Given the description of an element on the screen output the (x, y) to click on. 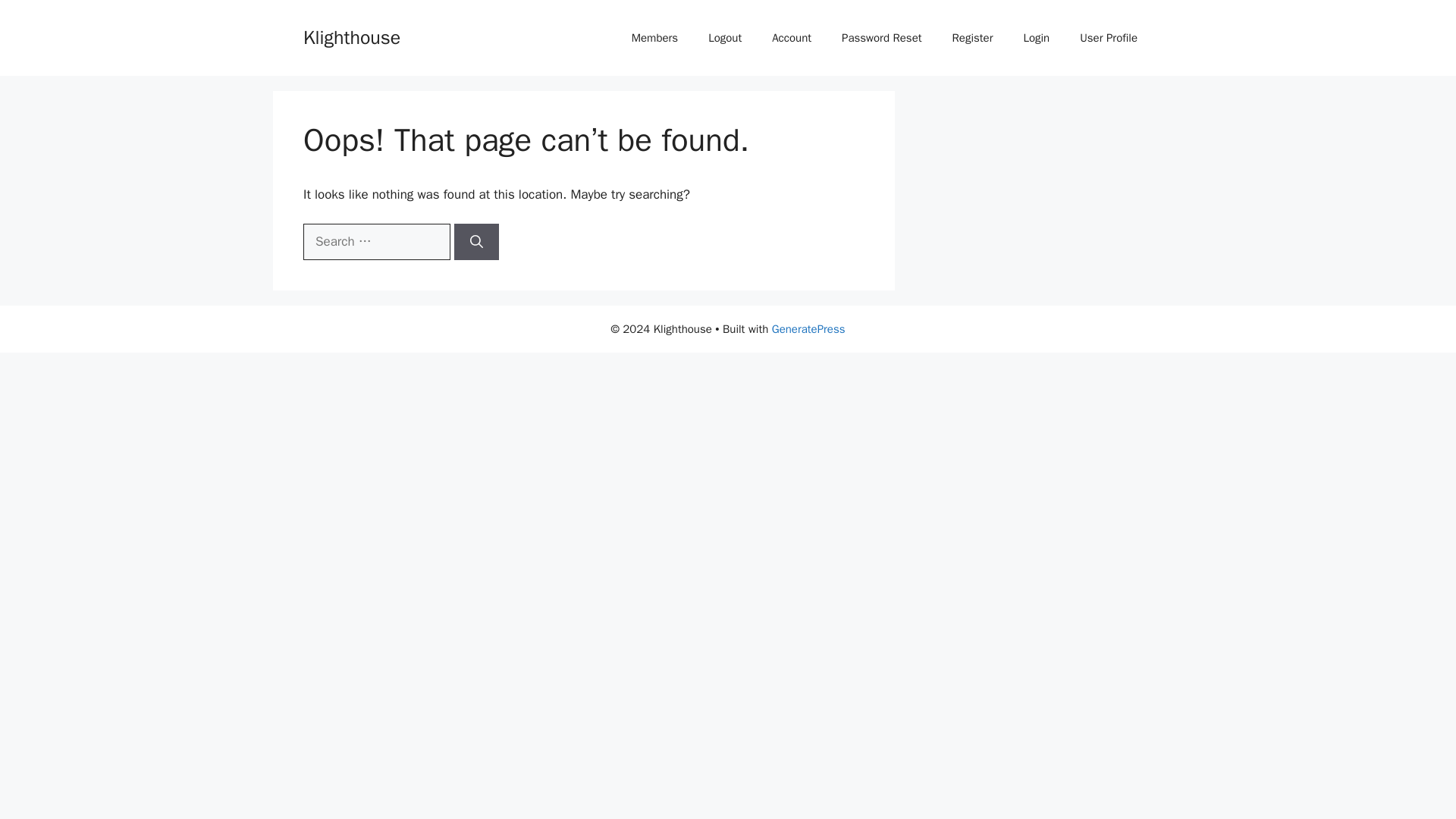
GeneratePress (808, 328)
Members (654, 37)
Account (792, 37)
Password Reset (881, 37)
Klighthouse (351, 37)
Login (1035, 37)
Register (973, 37)
User Profile (1108, 37)
Logout (725, 37)
Search for: (375, 241)
